Given the description of an element on the screen output the (x, y) to click on. 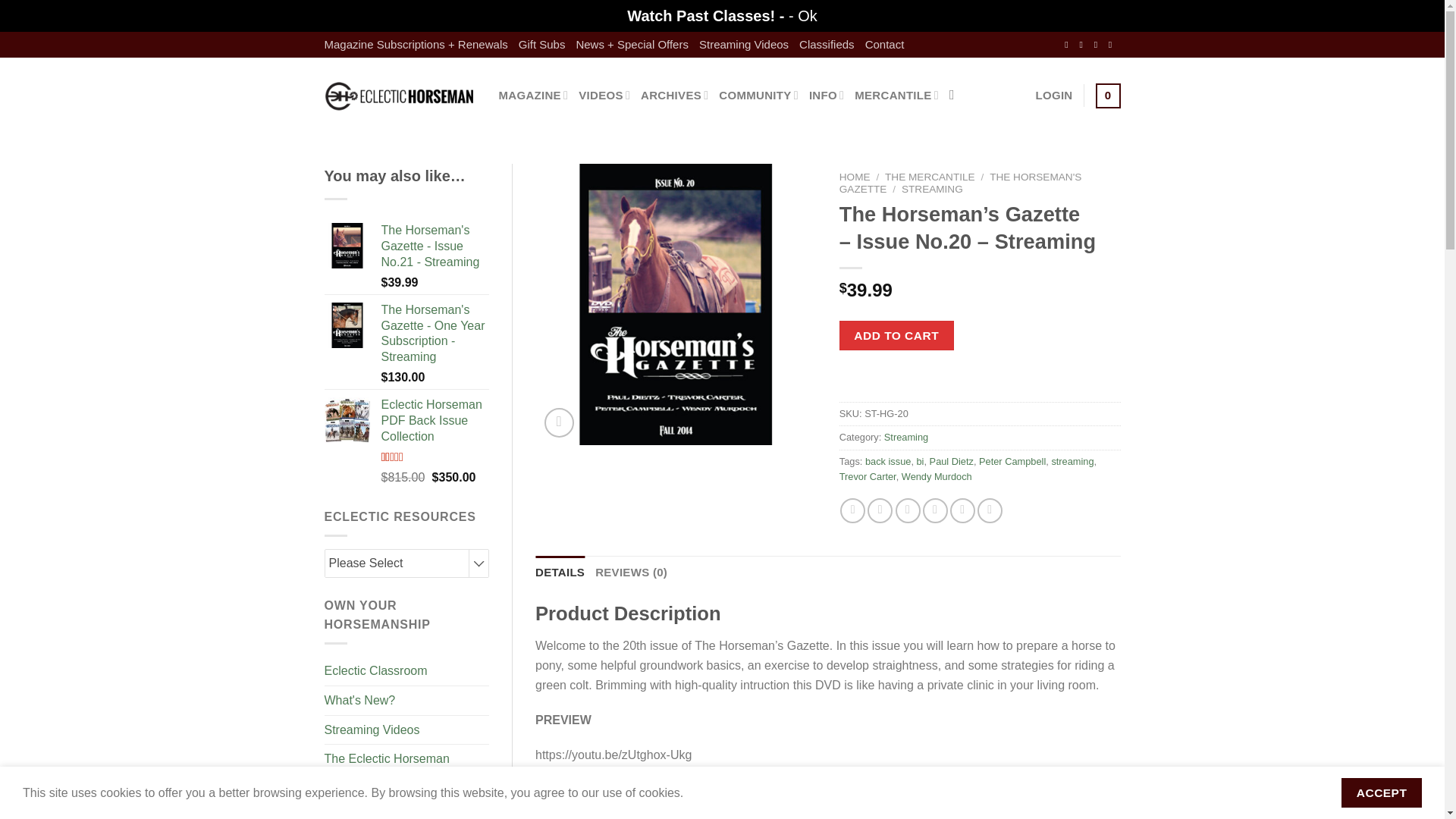
Eclectic Horseman - The Horse Lovers Resource (400, 95)
MAGAZINE (534, 95)
Watch Past Classes! - (708, 15)
Contact (884, 44)
The Horseman's Gazette - Issue No.21 - Streaming (434, 246)
Classifieds (826, 44)
Ok (806, 15)
The Horseman's Gazette - One Year Subscription - Streaming (434, 333)
VIDEOS (604, 95)
Eclectic Horseman PDF Back Issue Collection (434, 420)
